Given the description of an element on the screen output the (x, y) to click on. 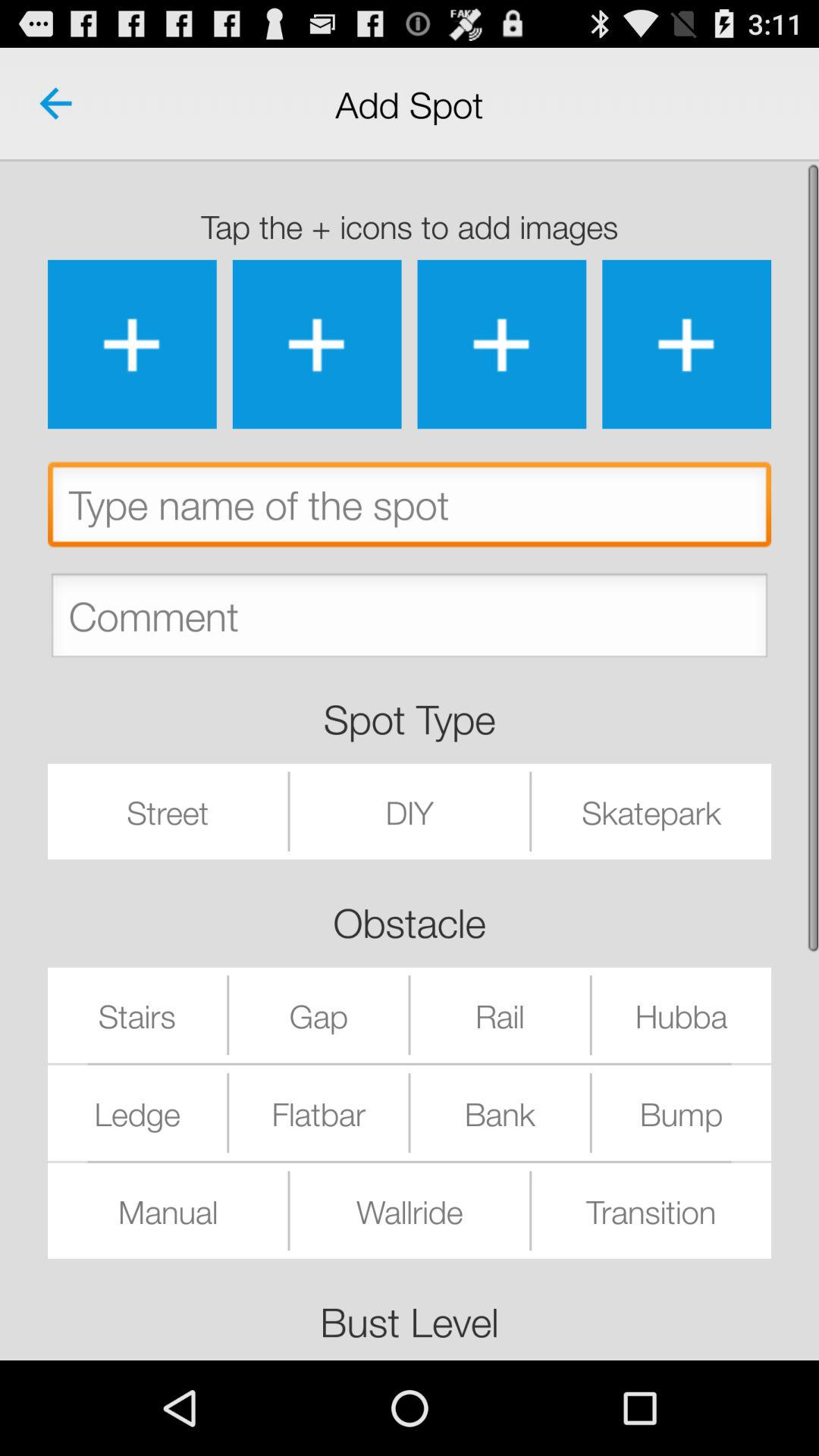
add image (686, 343)
